Given the description of an element on the screen output the (x, y) to click on. 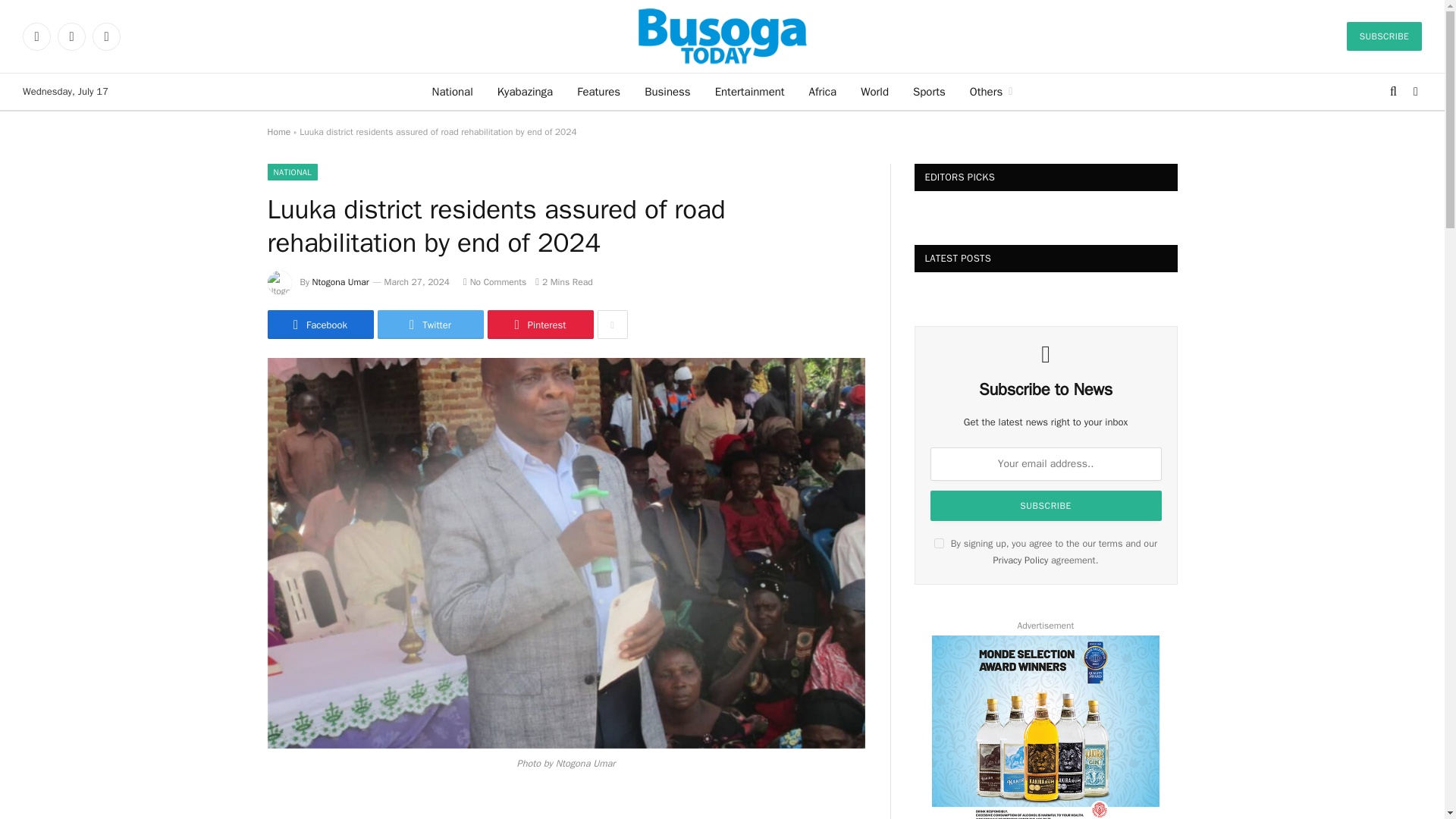
Twitter (71, 36)
Instagram (106, 36)
Entertainment (749, 91)
Busoga Today (722, 36)
Facebook (36, 36)
Africa (822, 91)
Share on Facebook (319, 324)
Share on Pinterest (539, 324)
World (874, 91)
SUBSCRIBE (1384, 36)
Posts by Ntogona Umar (341, 282)
Subscribe (1045, 505)
Business (667, 91)
NATIONAL (291, 171)
National (452, 91)
